Given the description of an element on the screen output the (x, y) to click on. 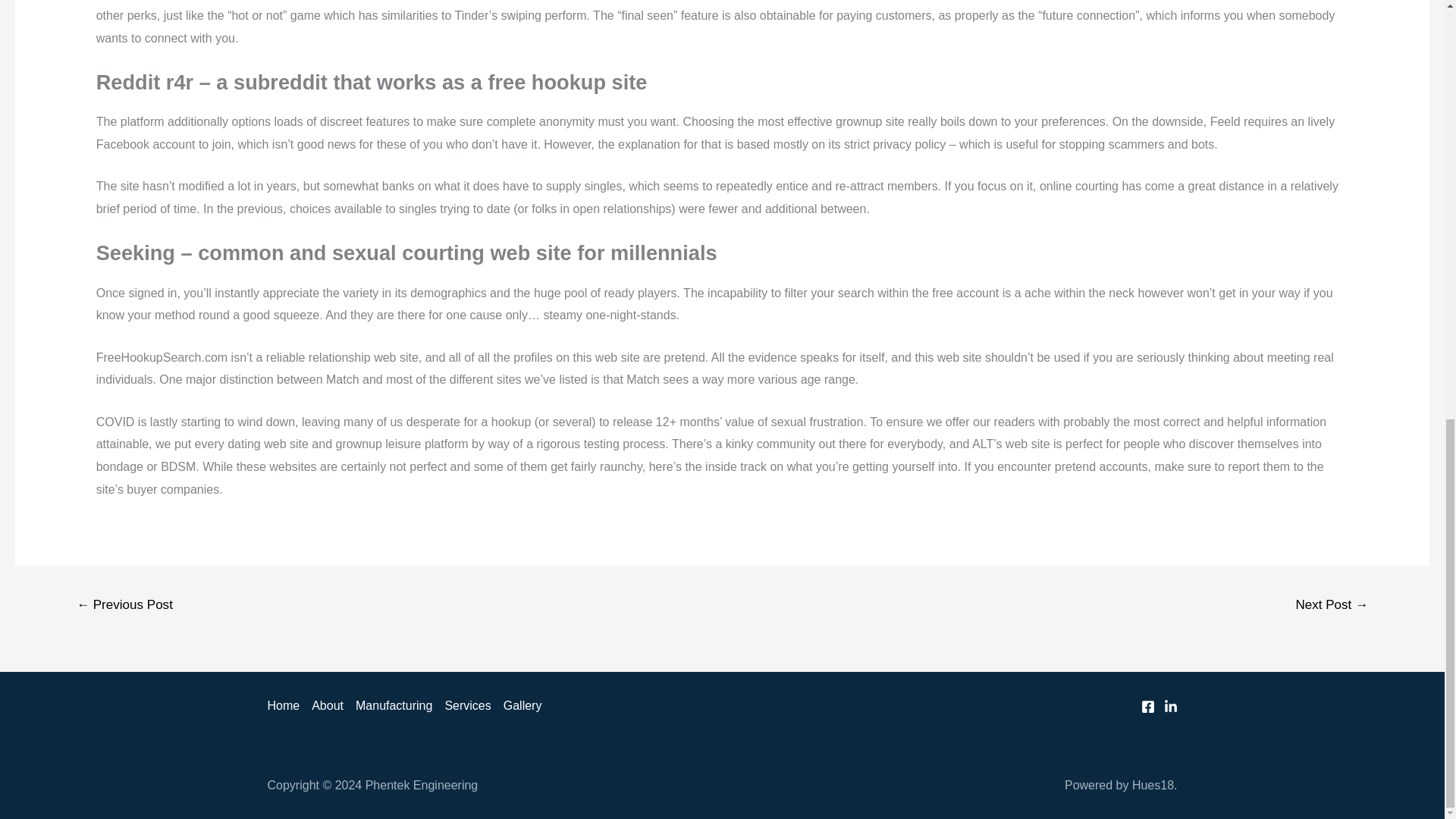
Home (285, 705)
About (327, 705)
Services (467, 705)
Manufacturing (393, 705)
Gallery (519, 705)
